Given the description of an element on the screen output the (x, y) to click on. 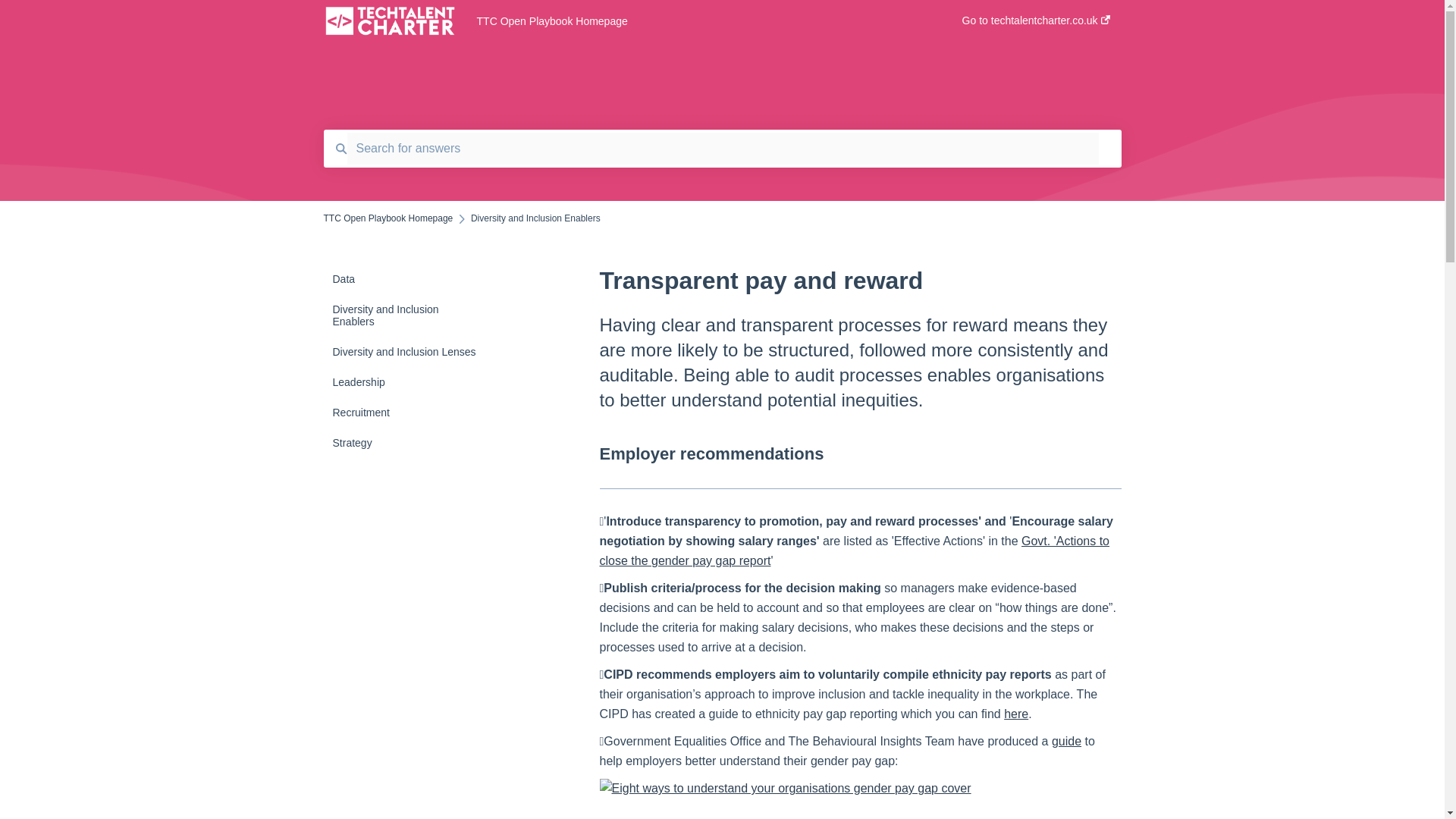
Go to techtalentcharter.co.uk (1035, 25)
Diversity and Inclusion Enablers (414, 315)
Recruitment (414, 412)
Leadership (414, 381)
TTC Open Playbook Homepage (387, 217)
guide (1066, 740)
here (1015, 713)
Govt. 'Actions to close the gender pay gap report (853, 550)
TTC Open Playbook Homepage (697, 21)
Diversity and Inclusion Lenses (414, 351)
